Given the description of an element on the screen output the (x, y) to click on. 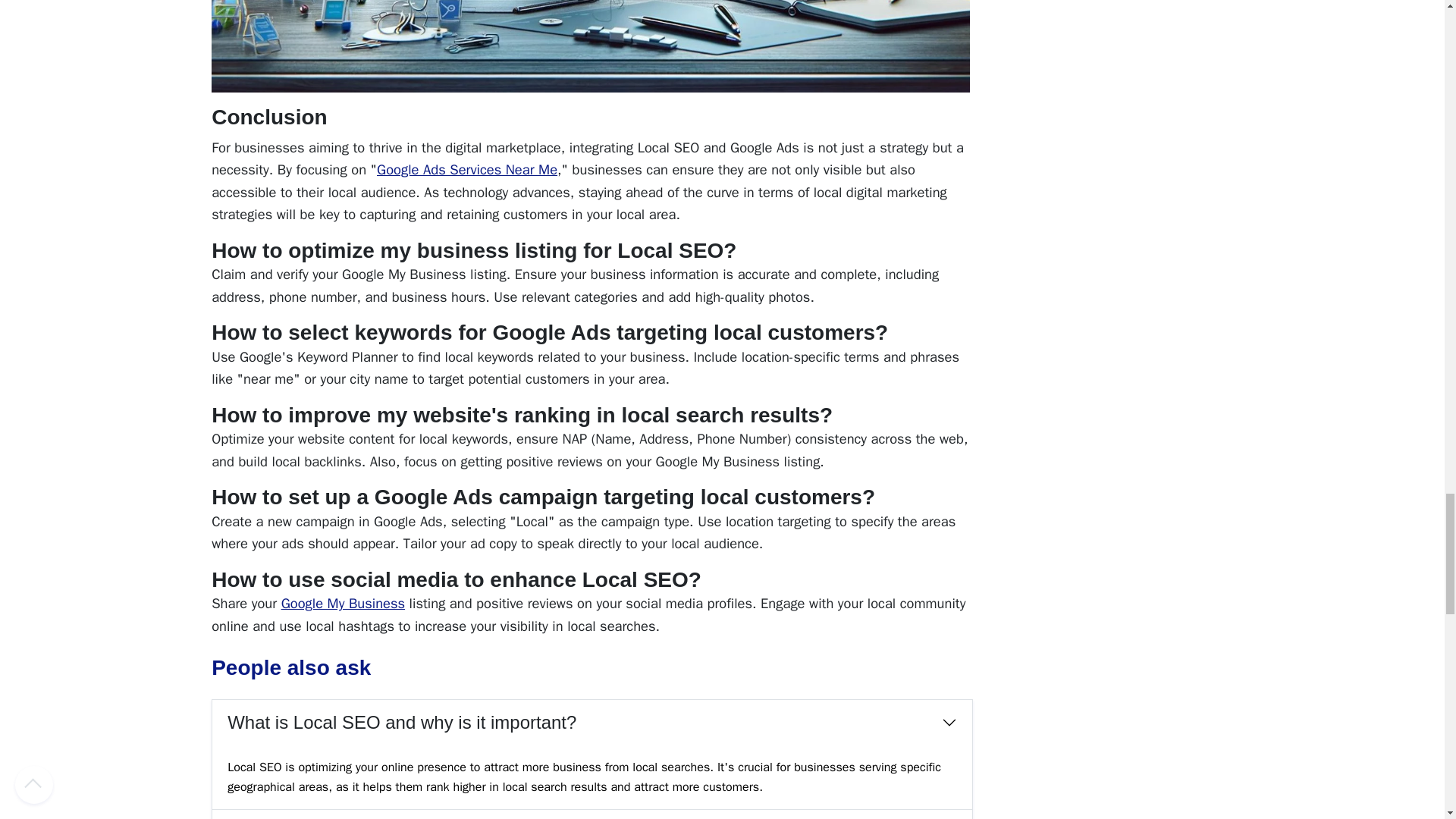
Google Ads Services Near Me (467, 169)
What is Local SEO and why is it important? (592, 723)
Google My Business (342, 602)
How often should I update my Google My Business listing? (592, 814)
